Given the description of an element on the screen output the (x, y) to click on. 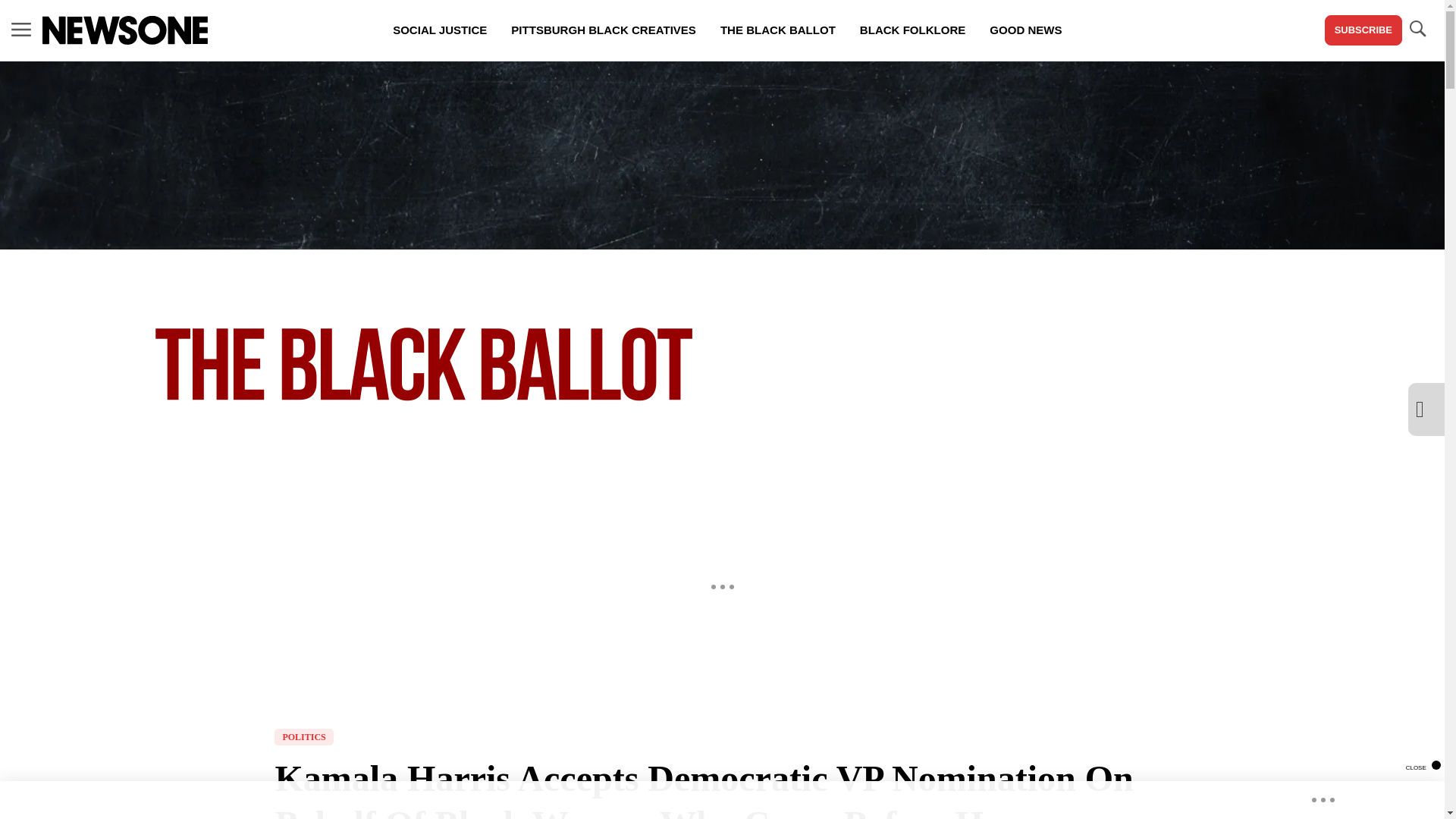
BLACK FOLKLORE (911, 30)
PITTSBURGH BLACK CREATIVES (603, 30)
MENU (20, 30)
GOOD NEWS (1025, 30)
MENU (20, 29)
SUBSCRIBE (1363, 30)
SOCIAL JUSTICE (439, 30)
POLITICS (304, 736)
THE BLACK BALLOT (777, 30)
TOGGLE SEARCH (1417, 30)
TOGGLE SEARCH (1417, 28)
